Given the description of an element on the screen output the (x, y) to click on. 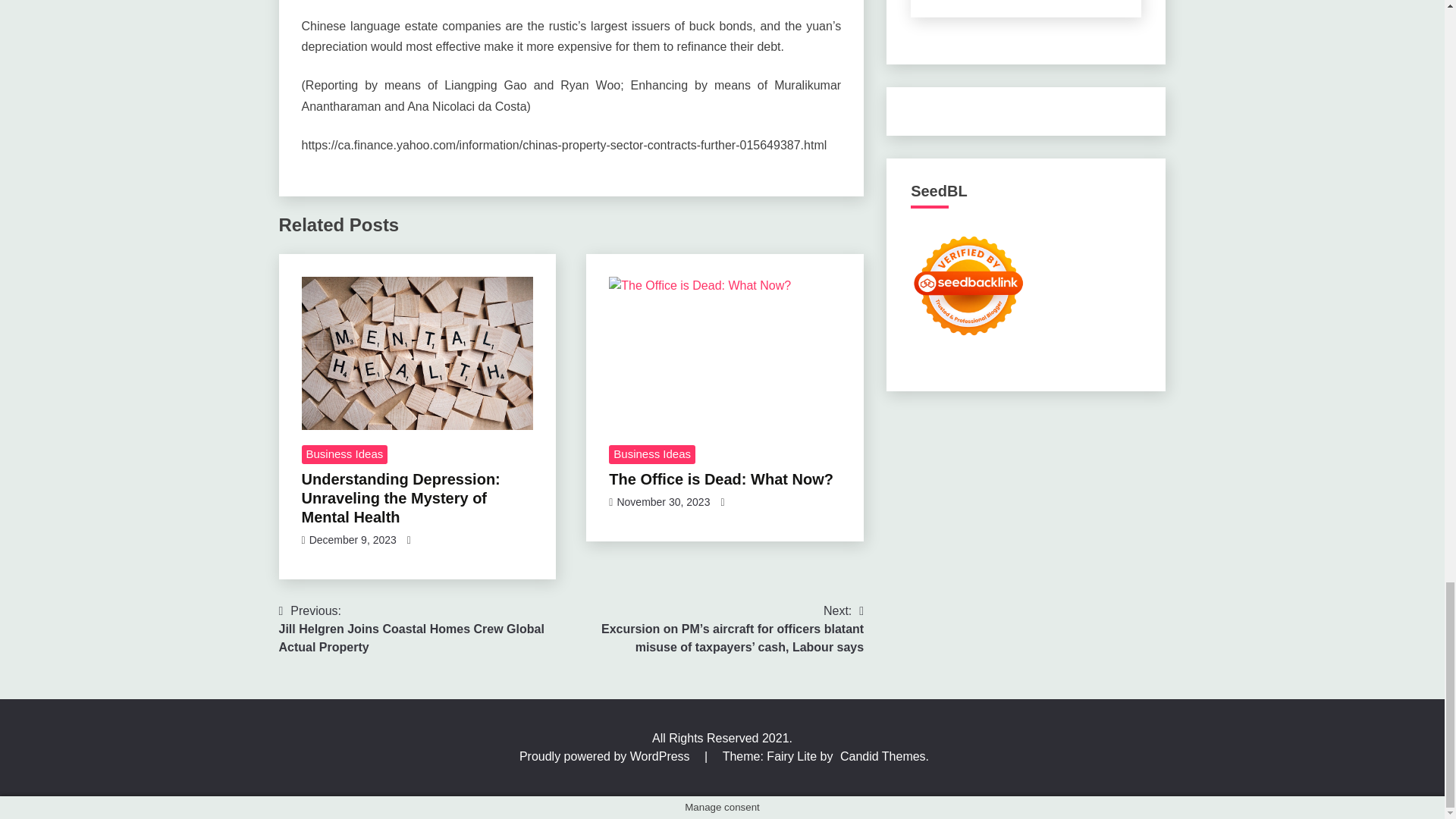
Business Ideas (651, 455)
December 9, 2023 (352, 539)
The Office is Dead: What Now? (724, 352)
The Office is Dead: What Now? (720, 478)
Business Ideas (344, 455)
Seedbacklink (968, 285)
November 30, 2023 (662, 501)
